Given the description of an element on the screen output the (x, y) to click on. 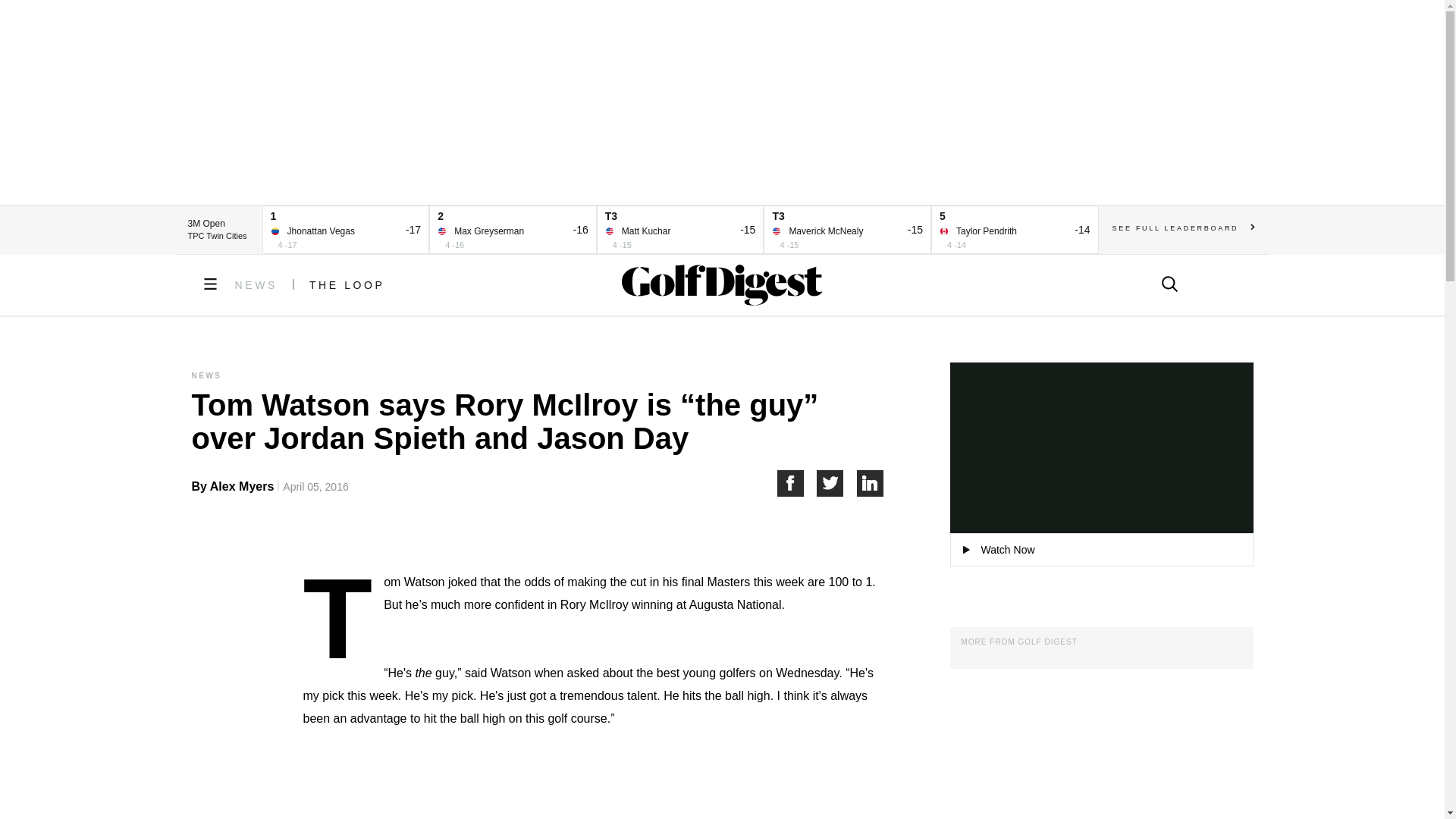
Share on Facebook (796, 483)
NEWS (256, 285)
Share on LinkedIn (870, 483)
Share on Twitter (836, 483)
SEE FULL LEADERBOARD (1183, 227)
THE LOOP (346, 285)
